Given the description of an element on the screen output the (x, y) to click on. 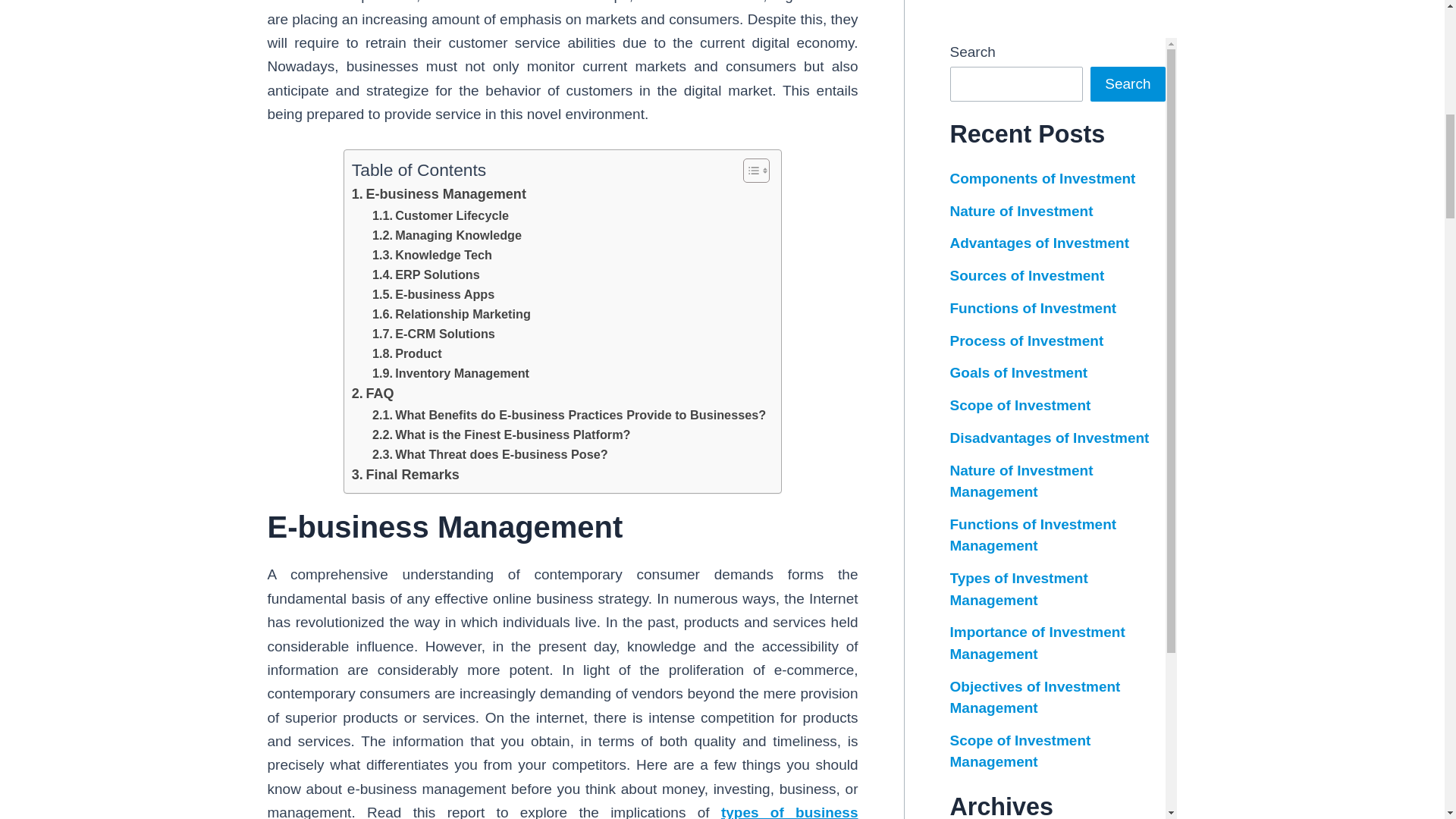
What is the Finest E-business Platform? (501, 434)
Knowledge Tech (432, 254)
Inventory Management (450, 373)
Customer Lifecycle (440, 215)
FAQ (373, 393)
What is the Finest E-business Platform? (501, 434)
What Benefits do E-business Practices Provide to Businesses? (568, 414)
types of business management (561, 811)
Knowledge Tech (432, 254)
Customer Lifecycle (440, 215)
E-business Apps (433, 293)
E-business Management (438, 194)
E-CRM Solutions (433, 333)
ERP Solutions (426, 274)
Product (407, 353)
